Given the description of an element on the screen output the (x, y) to click on. 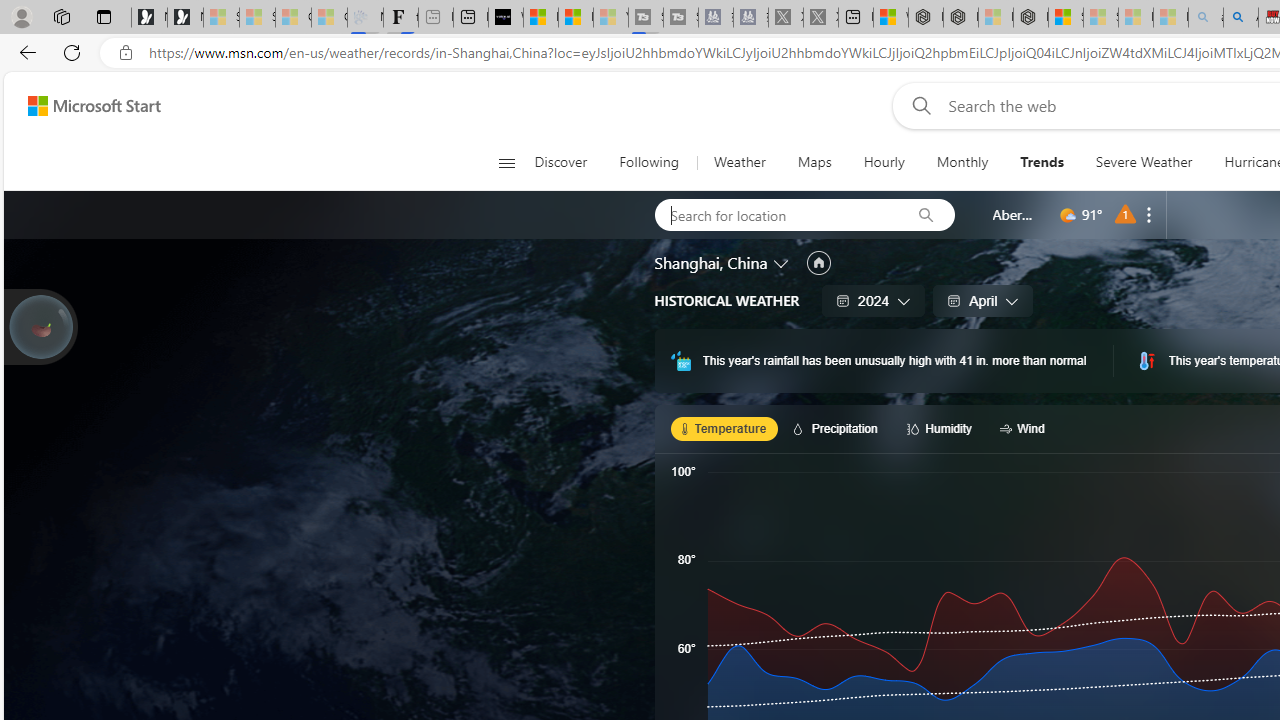
Hourly (883, 162)
Join us in planting real trees to help our planet! (40, 325)
Maps (813, 162)
Wind (1025, 428)
Shanghai, China (711, 263)
Class: button-glyph (505, 162)
